Given the description of an element on the screen output the (x, y) to click on. 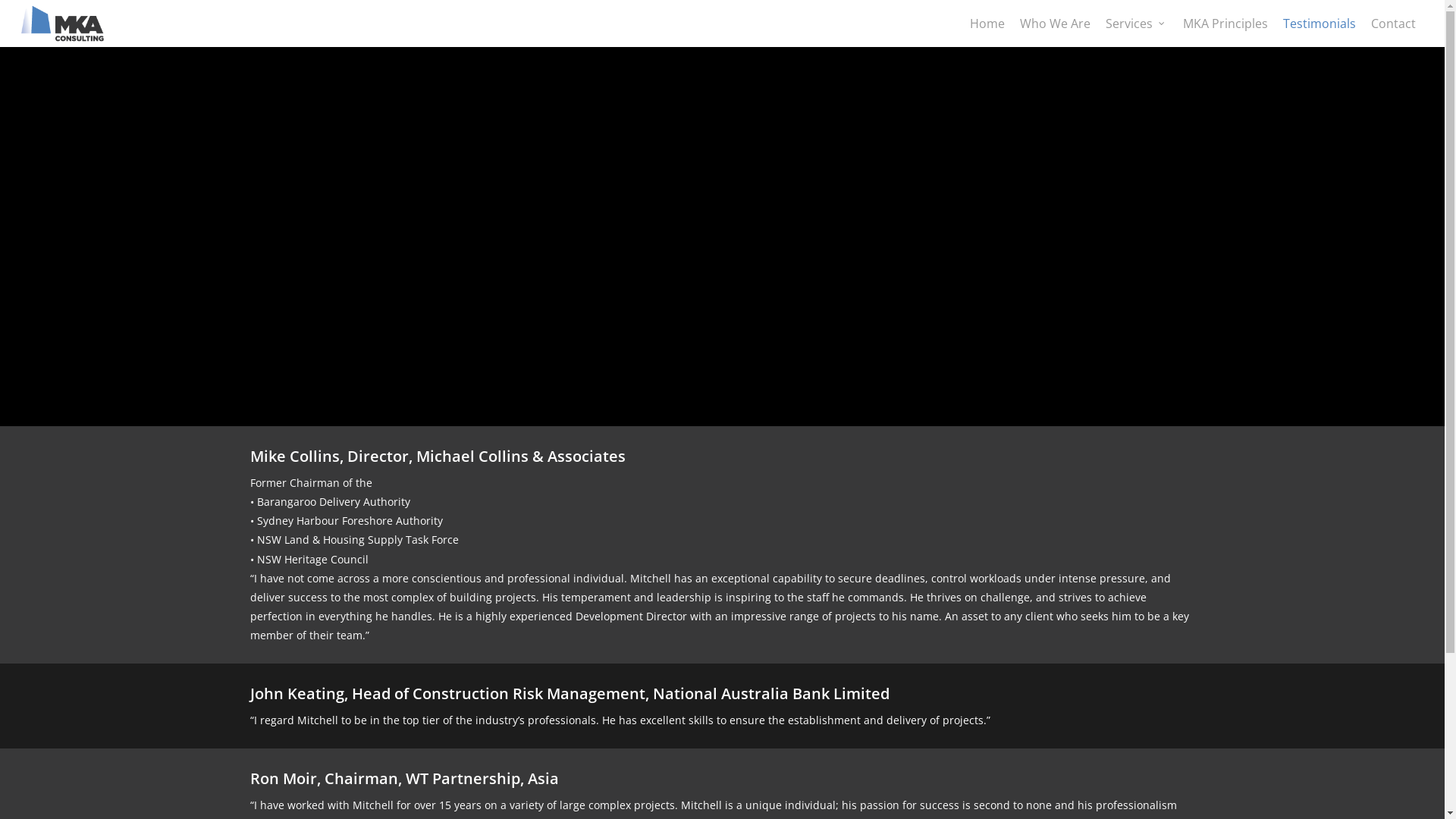
Home Element type: text (987, 23)
Services Element type: text (1136, 23)
Contact Element type: text (1393, 23)
MKA Principles Element type: text (1225, 23)
Who We Are Element type: text (1055, 23)
Testimonials Element type: text (1319, 23)
